Given the description of an element on the screen output the (x, y) to click on. 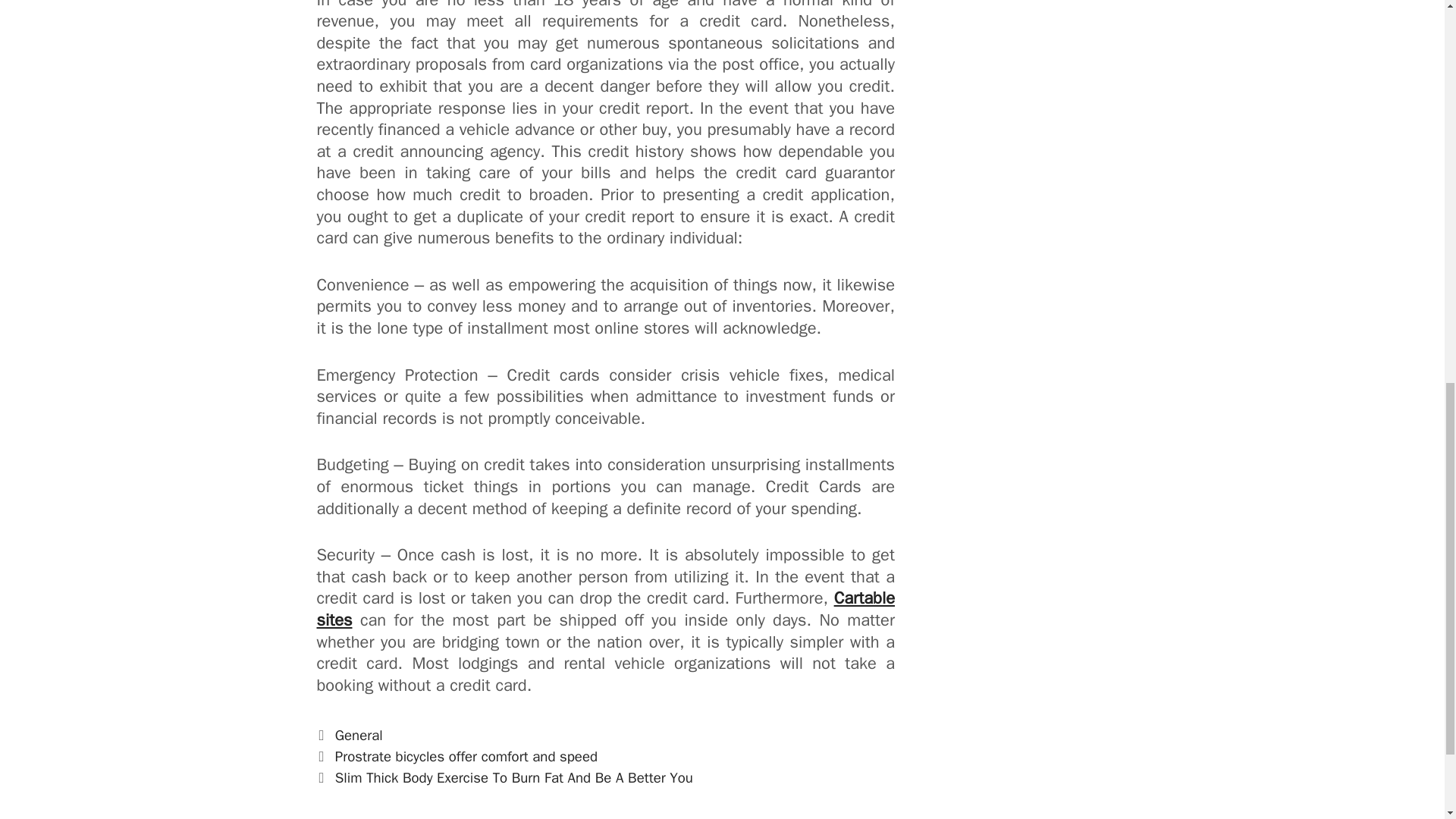
General (358, 735)
Next (505, 778)
Prostrate bicycles offer comfort and speed (465, 756)
Cartable sites (606, 609)
Previous (457, 756)
Slim Thick Body Exercise To Burn Fat And Be A Better You (513, 778)
